Given the description of an element on the screen output the (x, y) to click on. 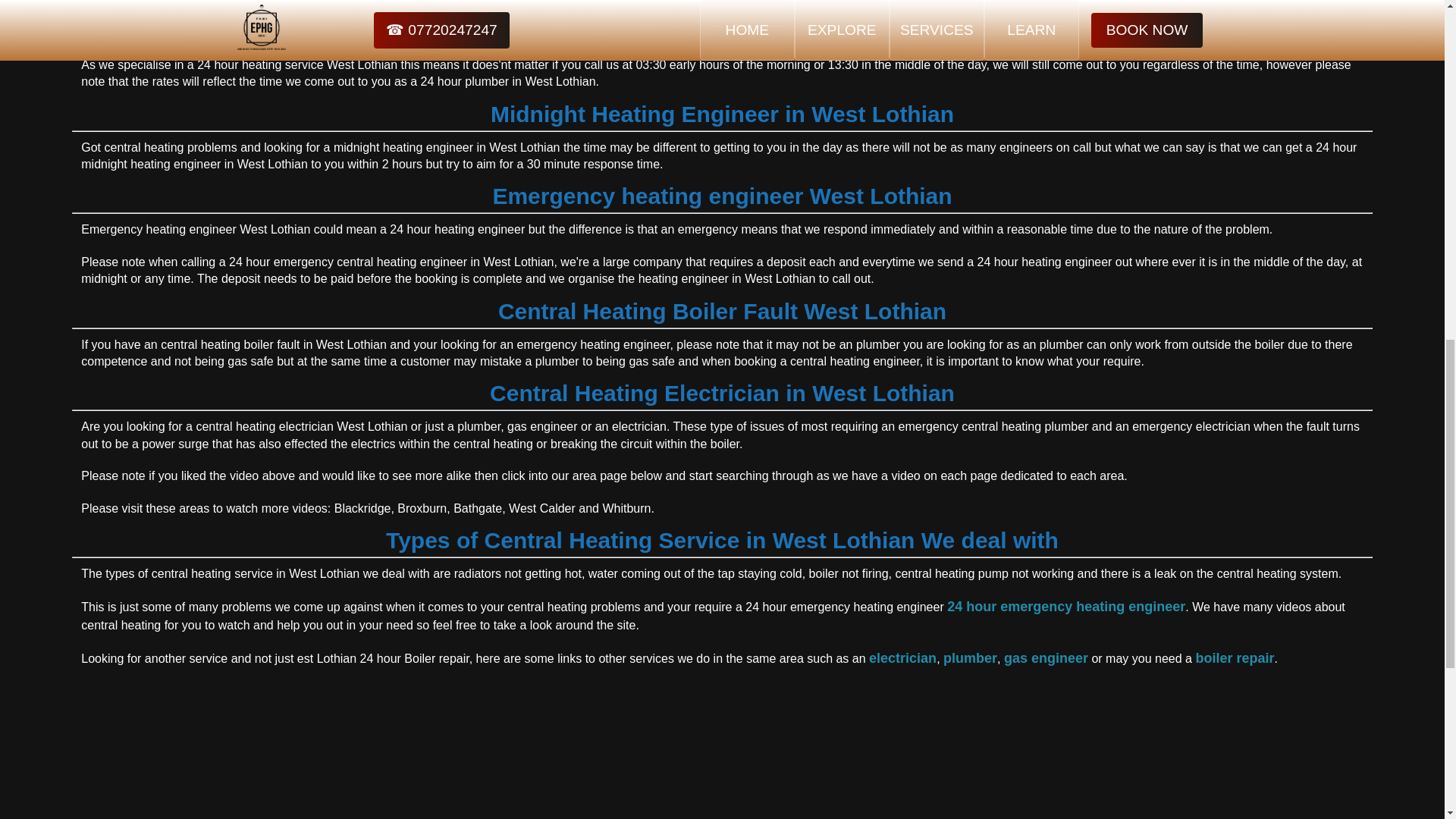
Electrician (902, 657)
gas engineer (1045, 657)
24 hour emergency heating engineer (1066, 606)
24 hour emergency heating engineer (1066, 606)
Plumber (970, 657)
plumber (970, 657)
boiler repair (1234, 657)
electrician (902, 657)
Gas Engineer (1045, 657)
Boiler Repair (1234, 657)
